Given the description of an element on the screen output the (x, y) to click on. 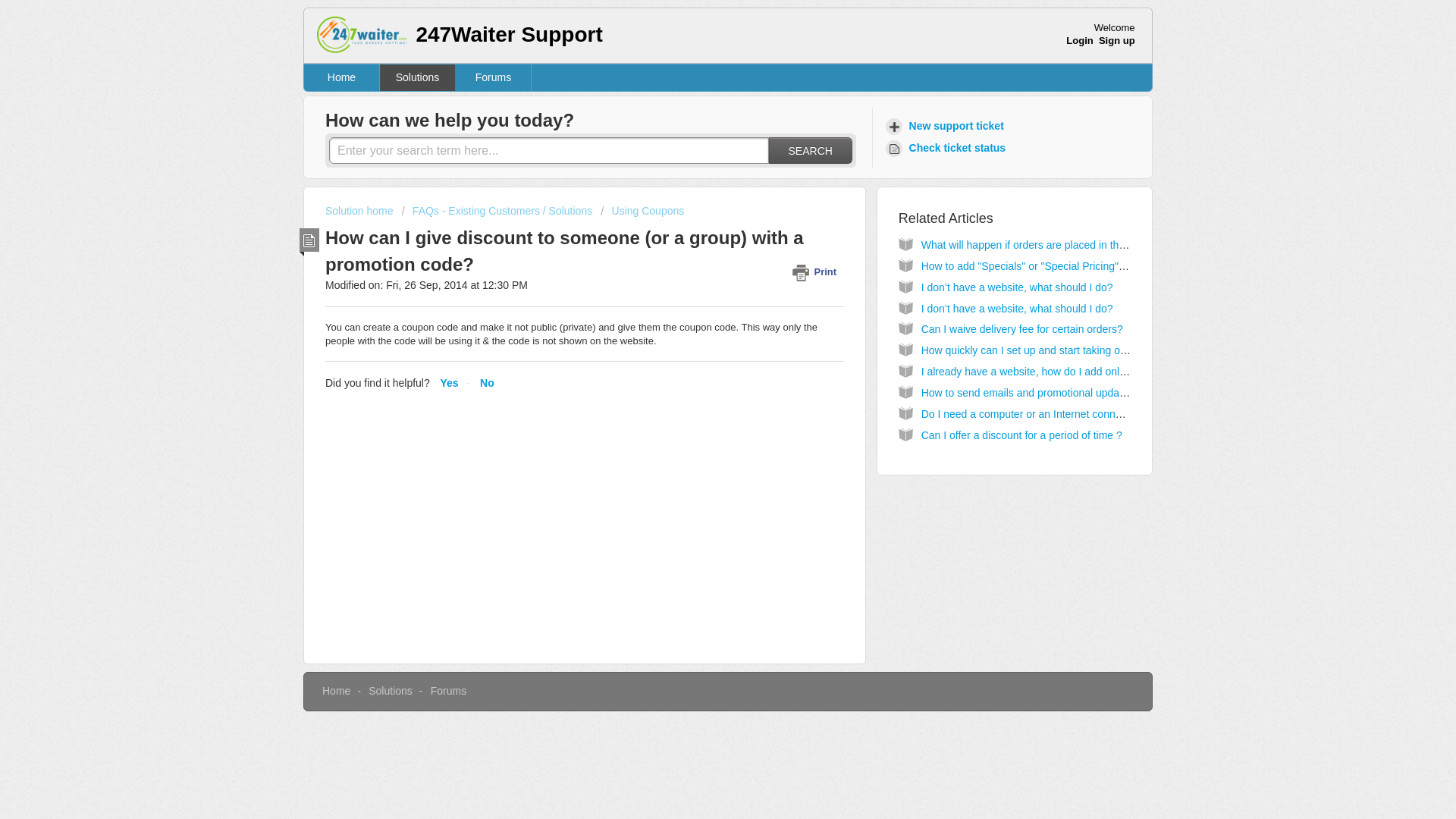
Can I waive delivery fee for certain orders? (1021, 328)
Forums (447, 690)
Using Coupons (641, 210)
How quickly can I set up and start taking orders? (1035, 349)
New support ticket (946, 126)
Check ticket status (947, 147)
Check ticket status (947, 147)
Home (342, 77)
New support ticket (946, 126)
Sign up (1117, 40)
Print (818, 271)
